Given the description of an element on the screen output the (x, y) to click on. 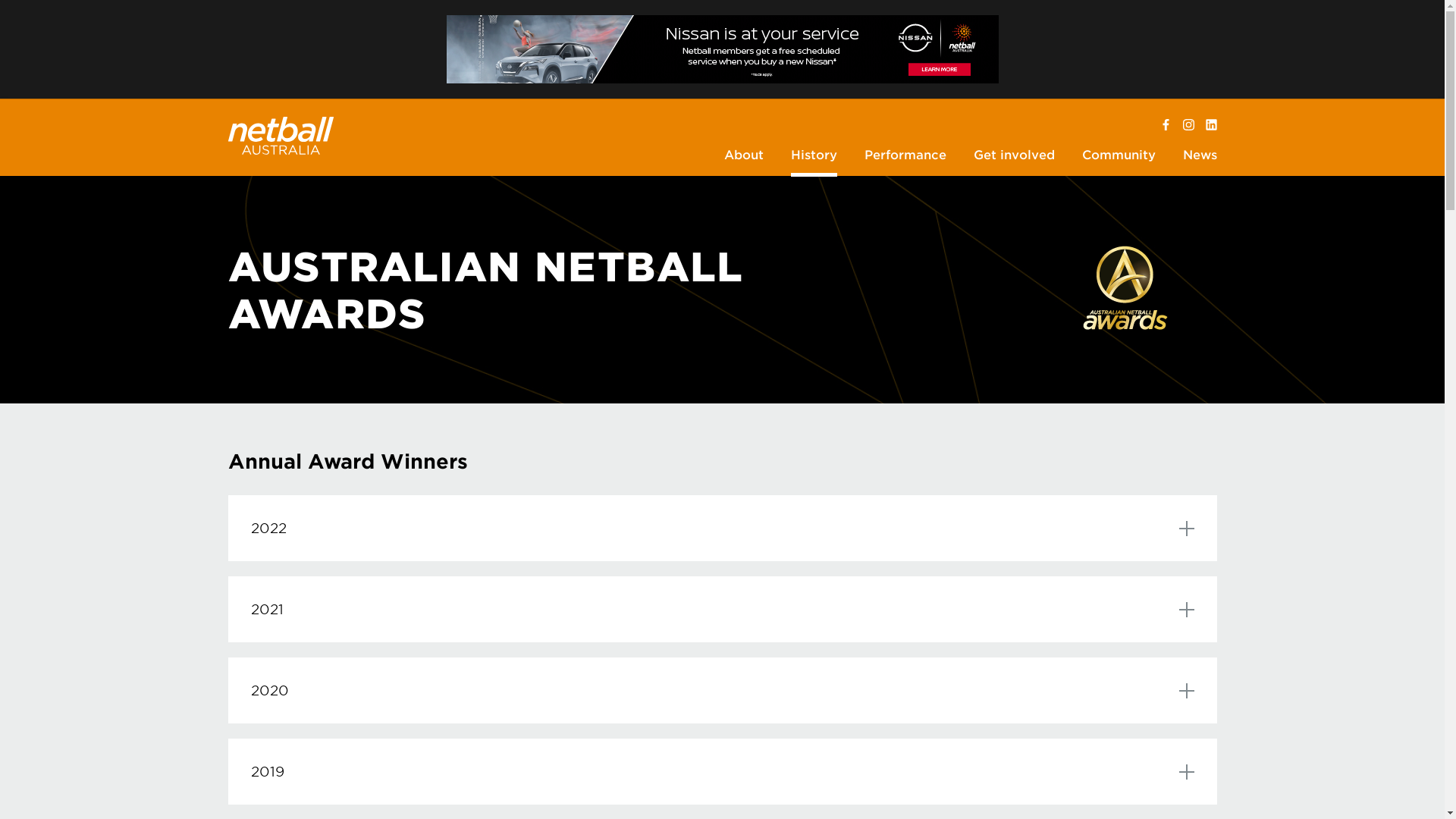
Netball Australia Facebook Element type: hover (1165, 124)
Performance Element type: text (904, 156)
History Element type: text (813, 156)
About Element type: text (743, 156)
2021 Element type: text (721, 609)
Community Element type: text (1118, 156)
Get involved Element type: text (1013, 156)
Netball Australia on LinkedIn Element type: hover (1211, 124)
2020 Element type: text (721, 690)
News Element type: text (1198, 156)
3rd party ad content Element type: hover (721, 49)
2019 Element type: text (721, 771)
2022 Element type: text (721, 528)
@netballaust Element type: hover (1188, 124)
